Given the description of an element on the screen output the (x, y) to click on. 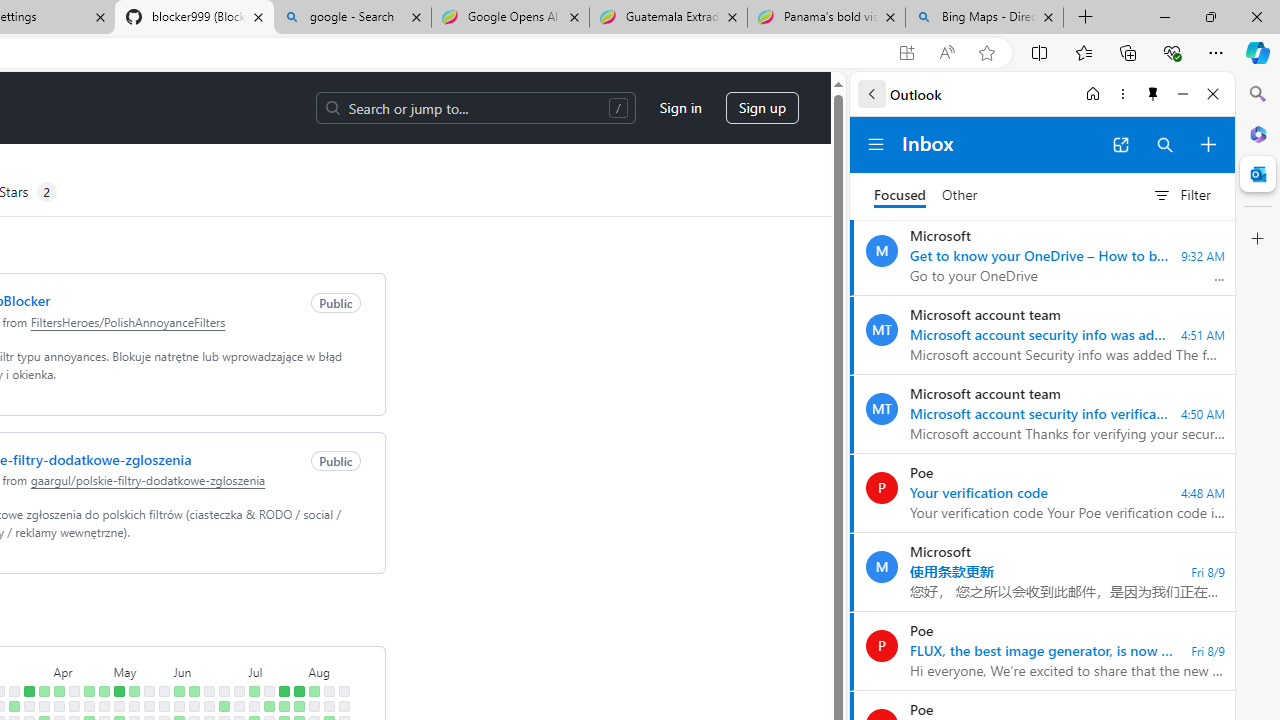
Compose new mail (1208, 144)
Minimize (1182, 93)
7 contributions on July 28th. (298, 691)
2 contributions on May 12th. (133, 691)
6 contributions on May 5th. (118, 691)
Unpin side pane (1153, 93)
google - Search (352, 17)
No contributions on May 20th. (148, 706)
10 contributions on March 24th. (28, 691)
No contributions on August 19th. (343, 706)
1 contribution on June 24th. (223, 706)
Focused (900, 195)
